Given the description of an element on the screen output the (x, y) to click on. 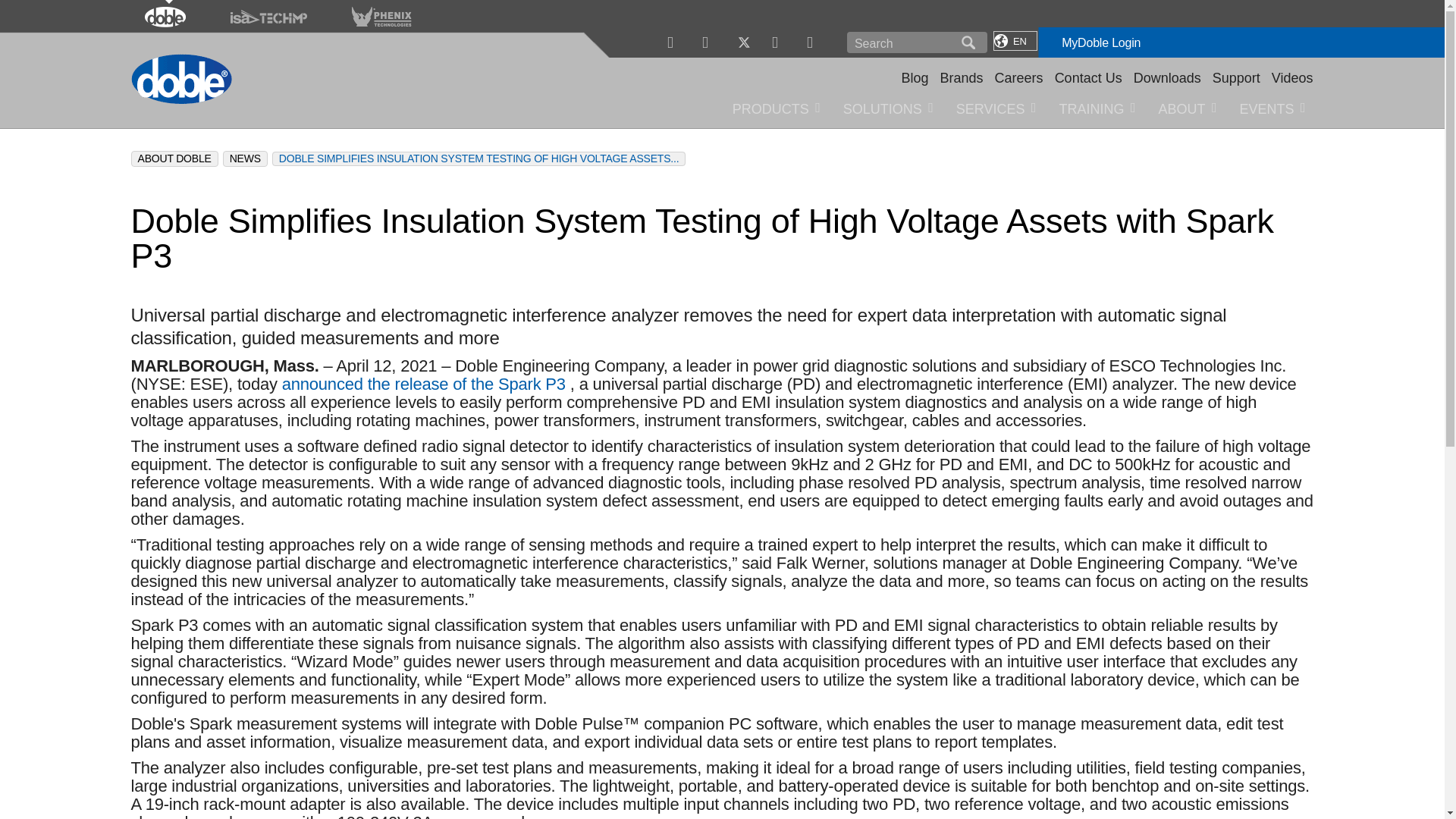
ISA TechIMP (268, 12)
Doble Engineering Company (181, 77)
PRODUCTS (775, 107)
SEARCH (968, 42)
Search (903, 42)
Search (903, 42)
EN (1014, 40)
Doble (165, 12)
Phenix (1015, 107)
